Given the description of an element on the screen output the (x, y) to click on. 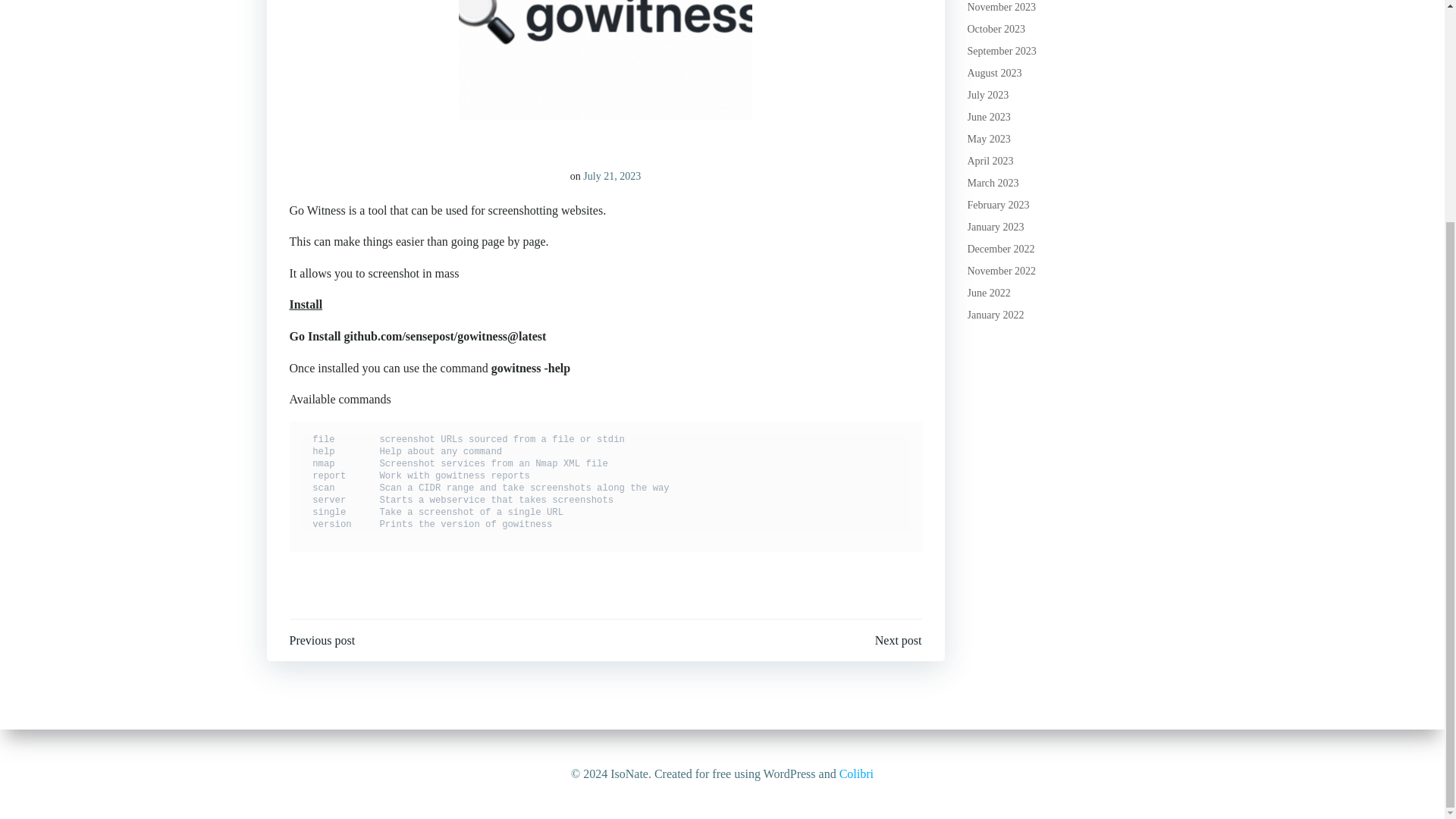
June 2022 (989, 292)
Go Witness (605, 6)
June 2023 (989, 116)
March 2023 (993, 183)
January 2022 (996, 315)
Next post (898, 640)
November 2023 (1002, 7)
December 2022 (1001, 248)
Colibri (856, 478)
Previous post (322, 640)
July 21, 2023 (611, 175)
May 2023 (989, 138)
November 2022 (1002, 270)
July 2023 (988, 94)
February 2023 (998, 204)
